Given the description of an element on the screen output the (x, y) to click on. 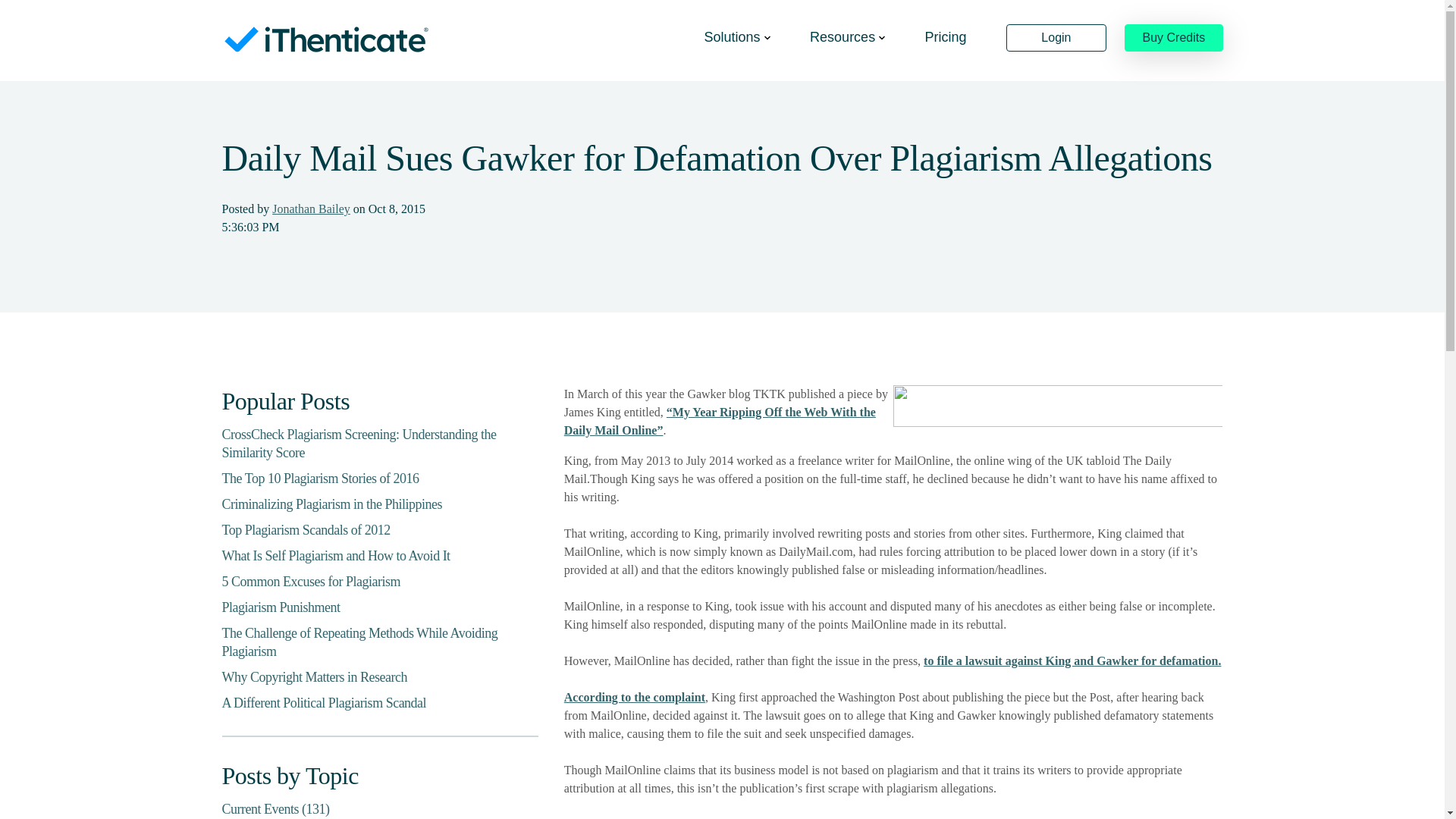
Buy Credits (1173, 37)
Solutions (737, 36)
5 Common Excuses for Plagiarism (309, 581)
Solutions (737, 36)
Top Plagiarism Scandals of 2012 (305, 529)
The Challenge of Repeating Methods While Avoiding Plagiarism (359, 642)
Jonathan Bailey (311, 208)
Plagiarism Punishment (280, 607)
Why Copyright Matters in Research (313, 676)
A Different Political Plagiarism Scandal (323, 702)
What Is Self Plagiarism and How to Avoid It (335, 555)
Login (1056, 37)
Buy Credits (1173, 37)
The Top 10 Plagiarism Stories of 2016 (320, 478)
